Given the description of an element on the screen output the (x, y) to click on. 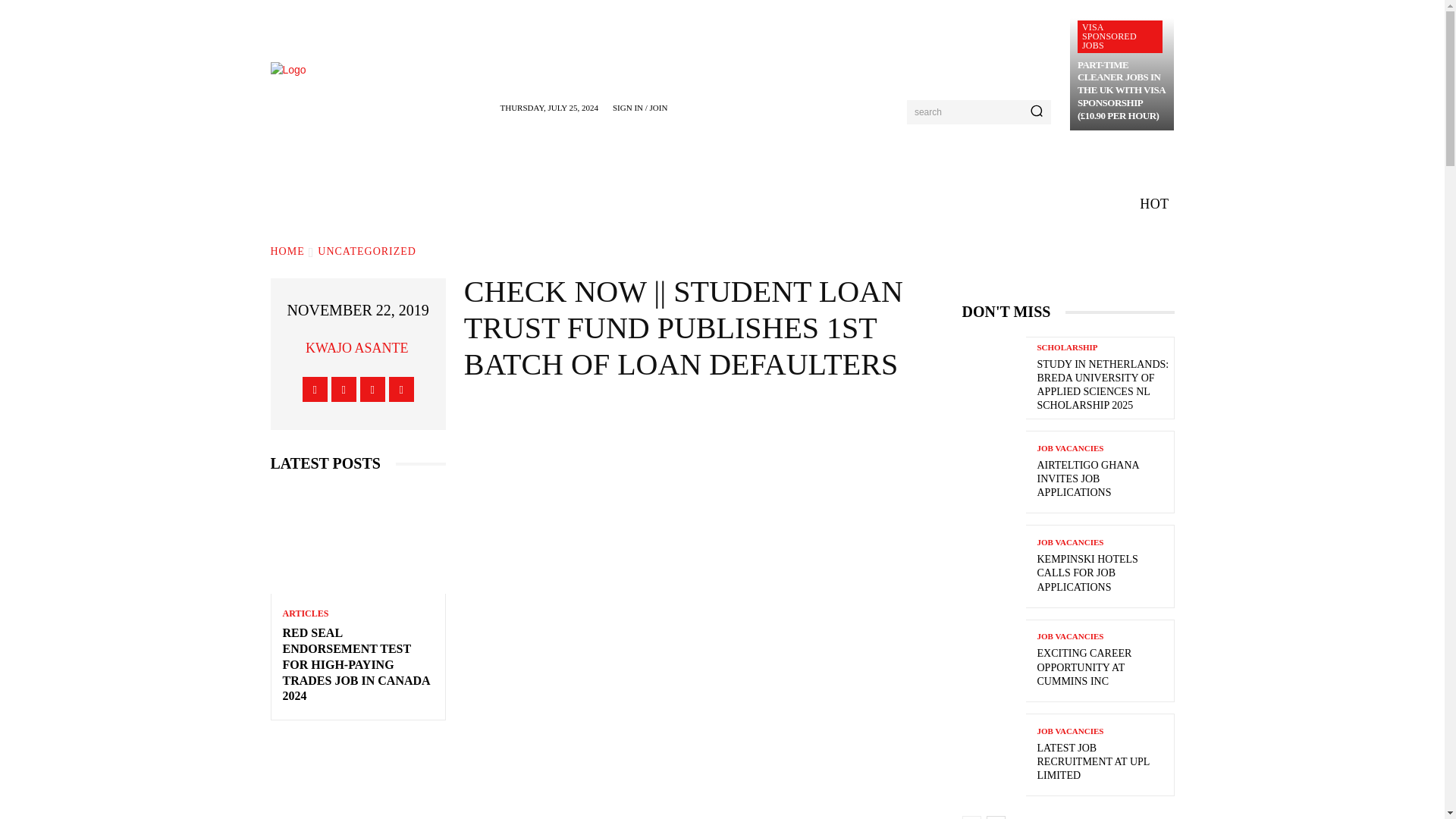
VISA SPONSORED JOBS (1120, 36)
View all posts in Uncategorized (366, 251)
